Given the description of an element on the screen output the (x, y) to click on. 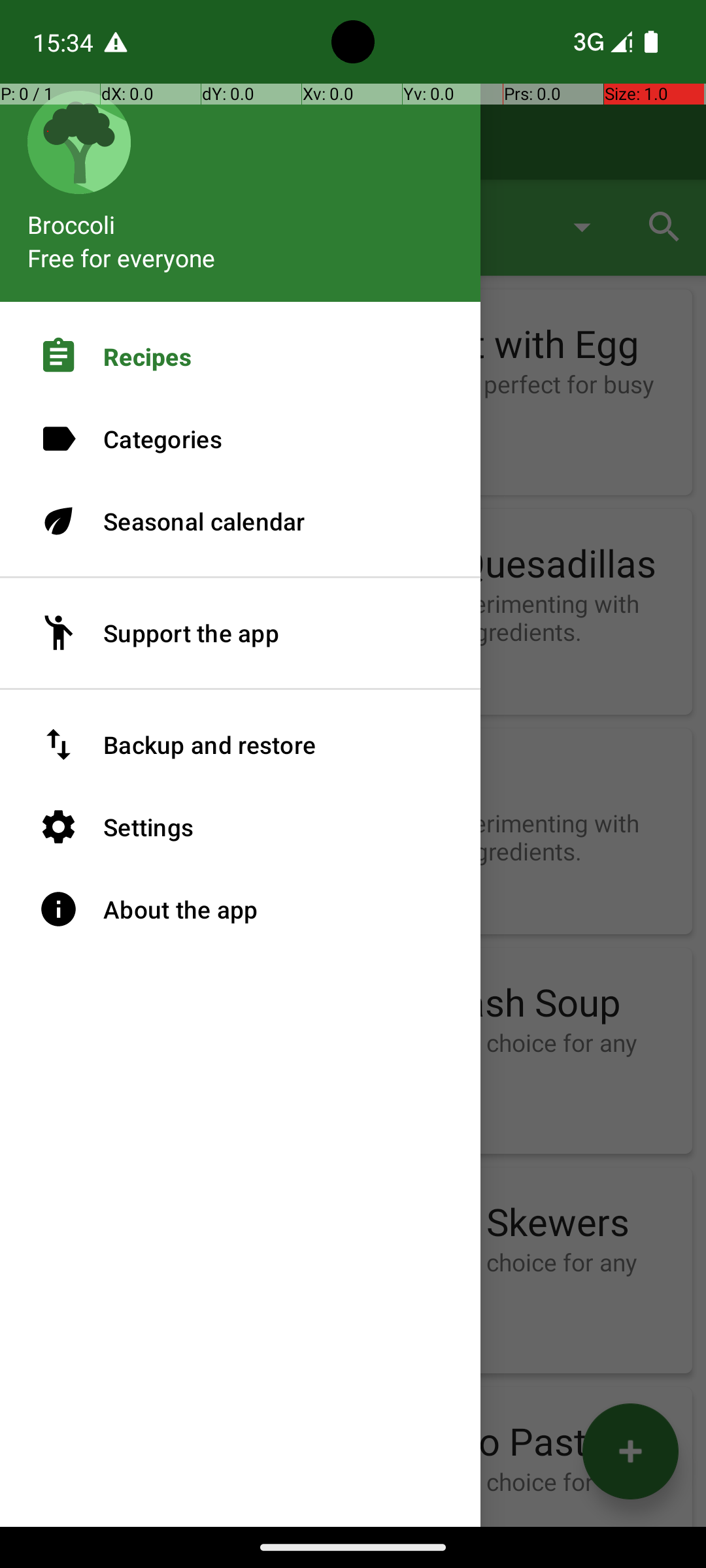
Free for everyone Element type: android.widget.TextView (121, 257)
Seasonal calendar Element type: android.widget.CheckedTextView (239, 521)
Support the app Element type: android.widget.CheckedTextView (239, 632)
Backup and restore Element type: android.widget.CheckedTextView (239, 744)
About the app Element type: android.widget.CheckedTextView (239, 909)
